Given the description of an element on the screen output the (x, y) to click on. 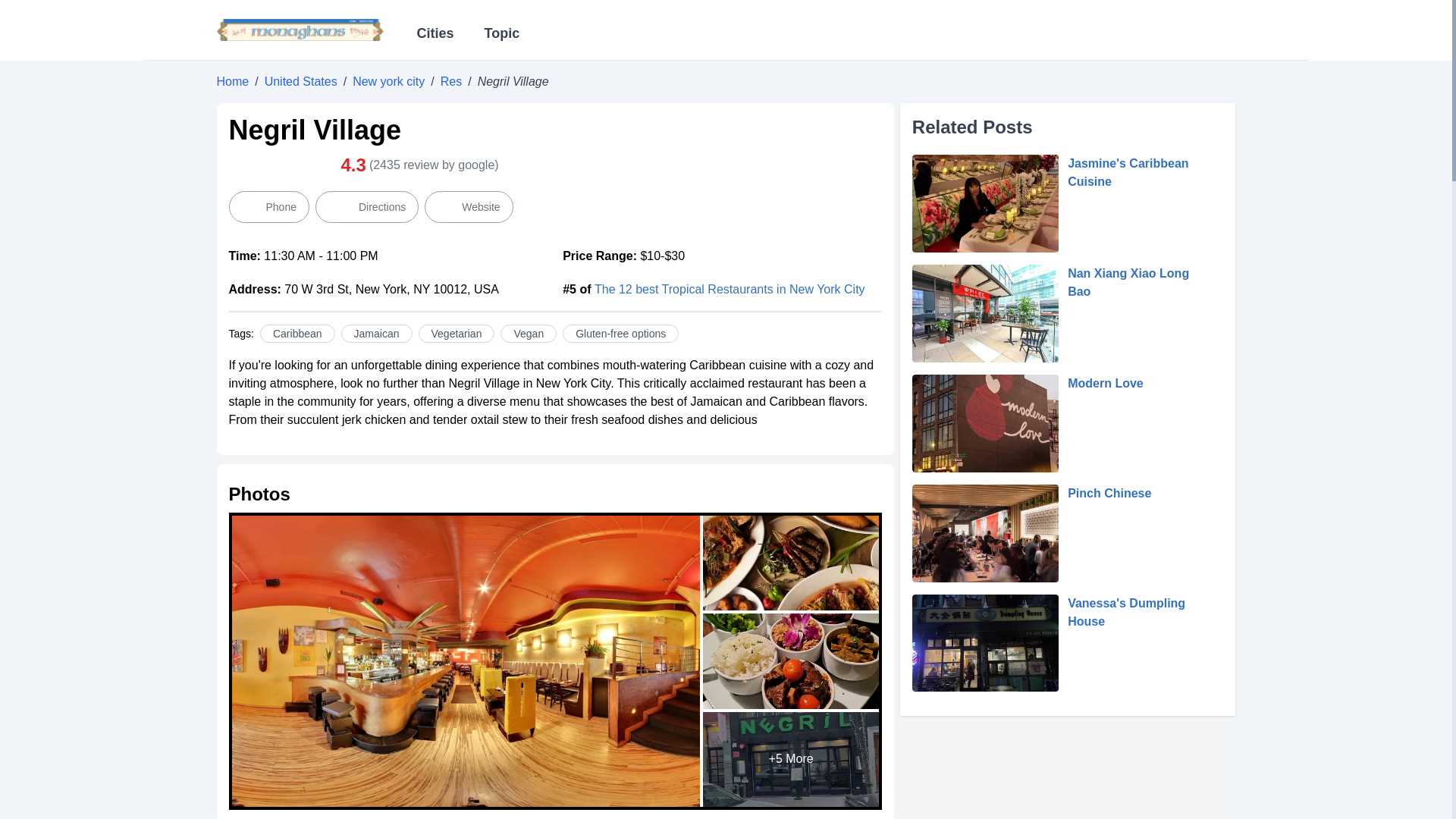
Phone (268, 206)
Res (451, 81)
Home (232, 81)
New york city (388, 81)
United States (300, 81)
